Given the description of an element on the screen output the (x, y) to click on. 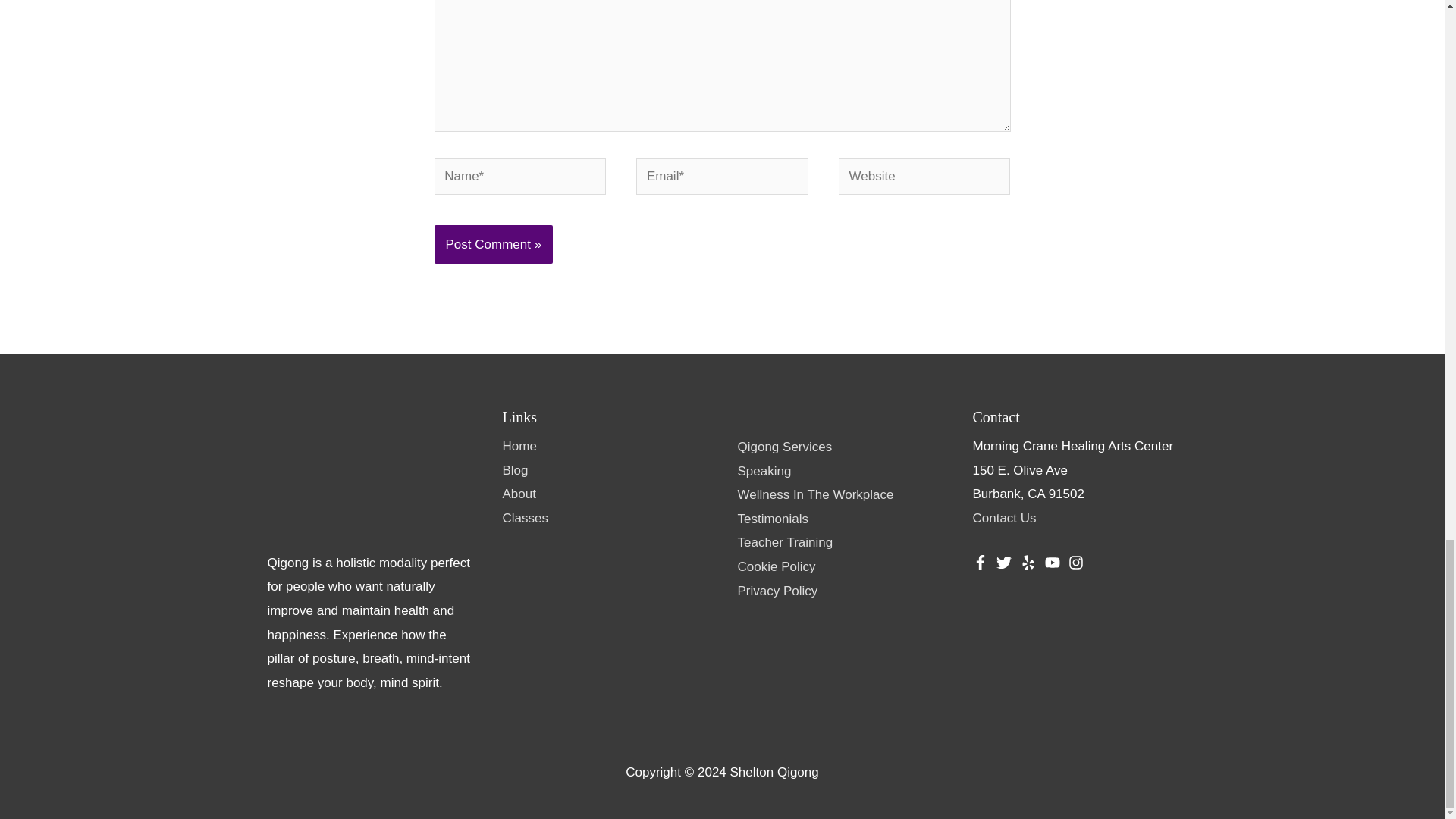
Classes (524, 518)
Blog (514, 470)
Home (518, 445)
About (518, 493)
